Given the description of an element on the screen output the (x, y) to click on. 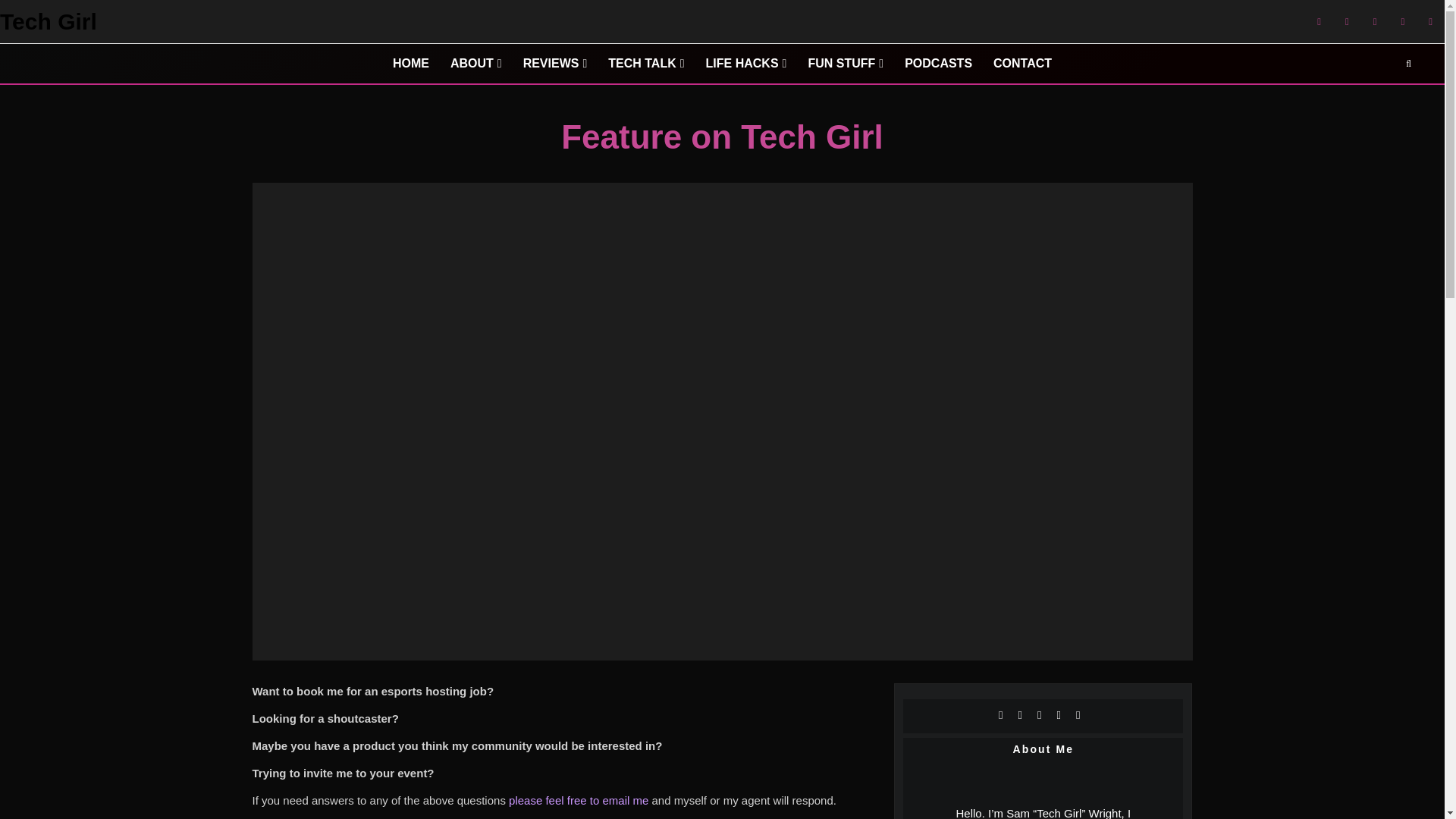
Tech Girl (48, 21)
TECH TALK (645, 63)
HOME (410, 63)
ABOUT (475, 63)
REVIEWS (555, 63)
